Given the description of an element on the screen output the (x, y) to click on. 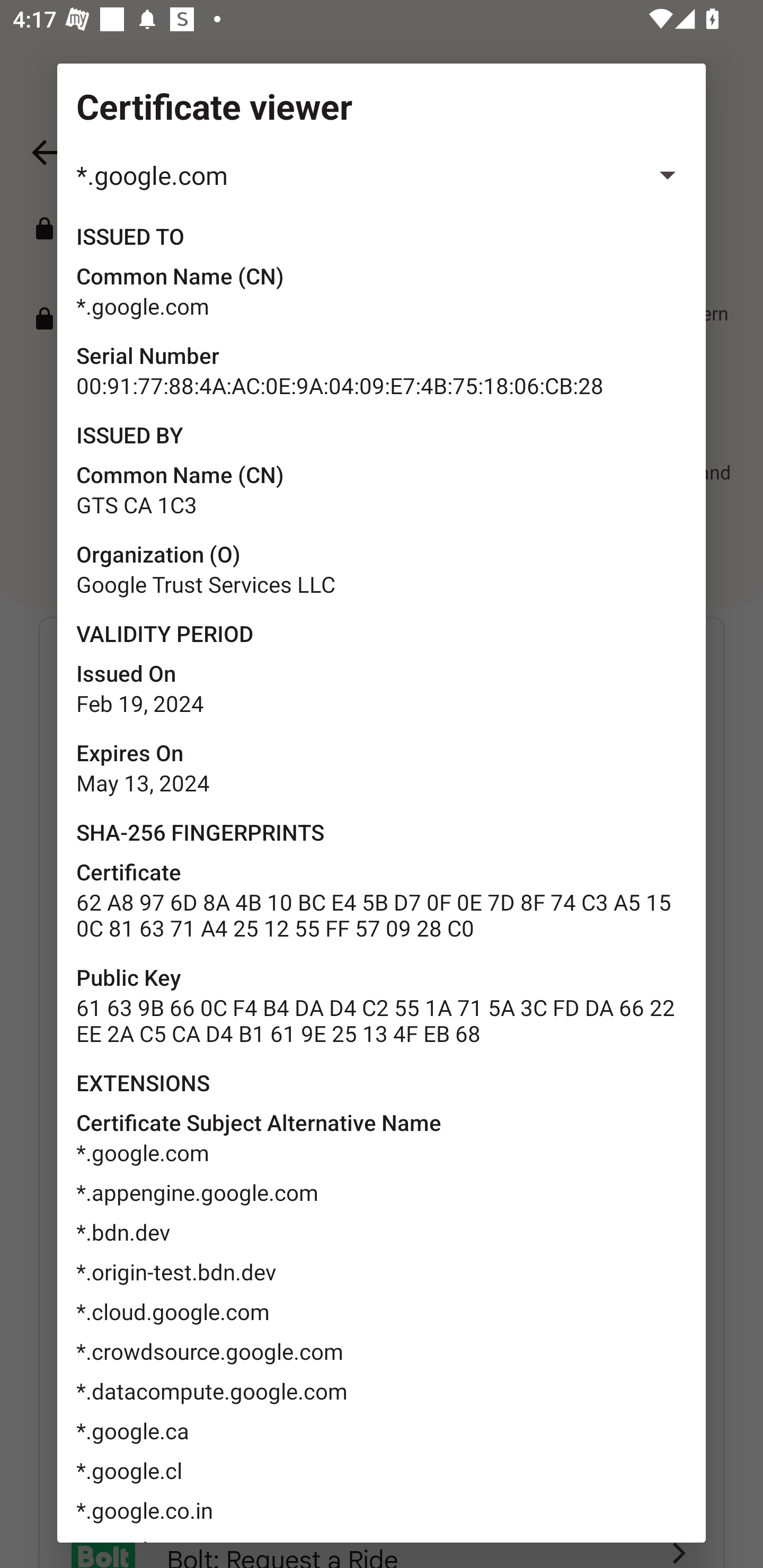
*.google.com (381, 175)
